Given the description of an element on the screen output the (x, y) to click on. 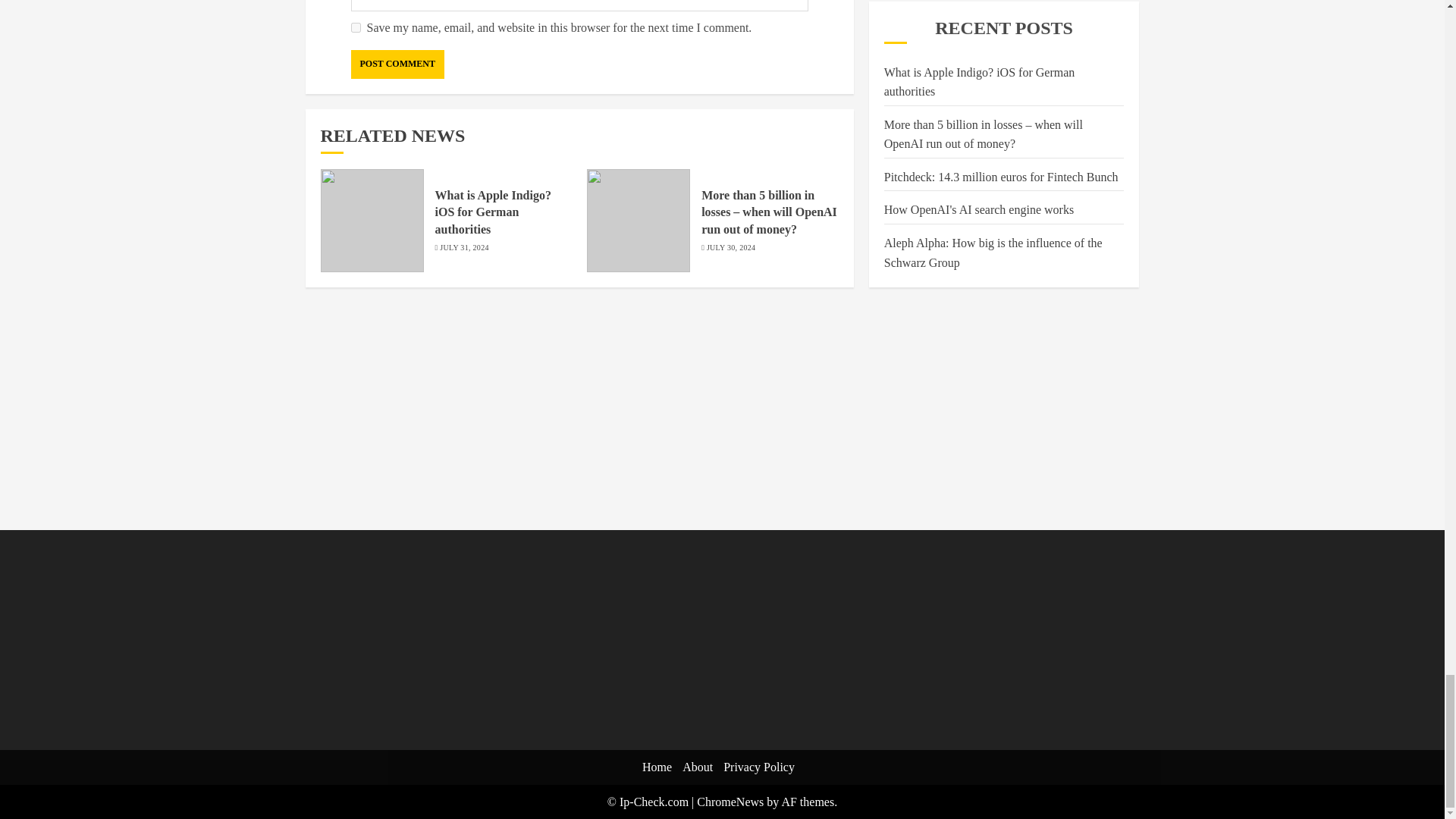
yes (354, 27)
Post Comment (397, 63)
